Given the description of an element on the screen output the (x, y) to click on. 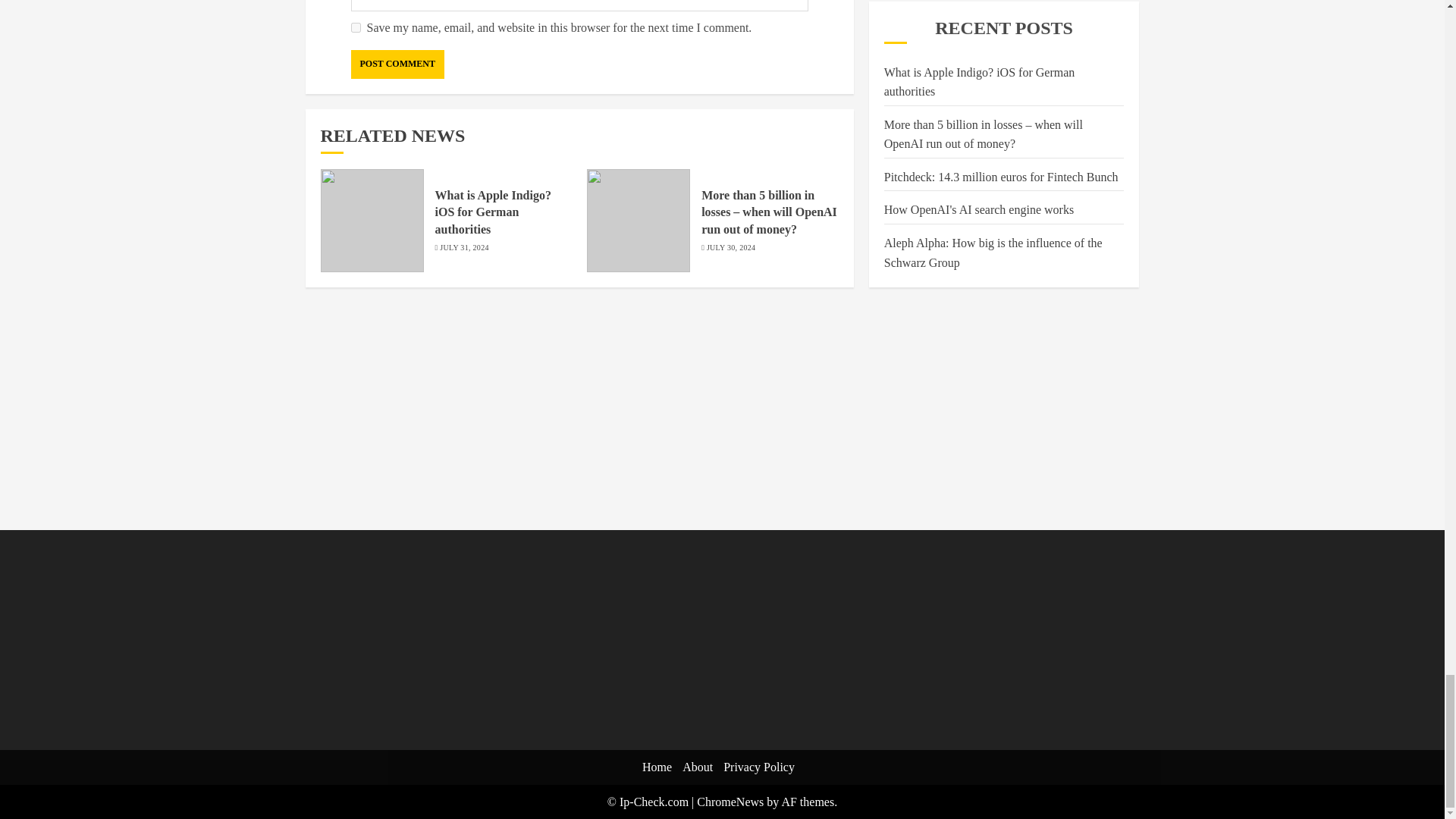
yes (354, 27)
Post Comment (397, 63)
